Given the description of an element on the screen output the (x, y) to click on. 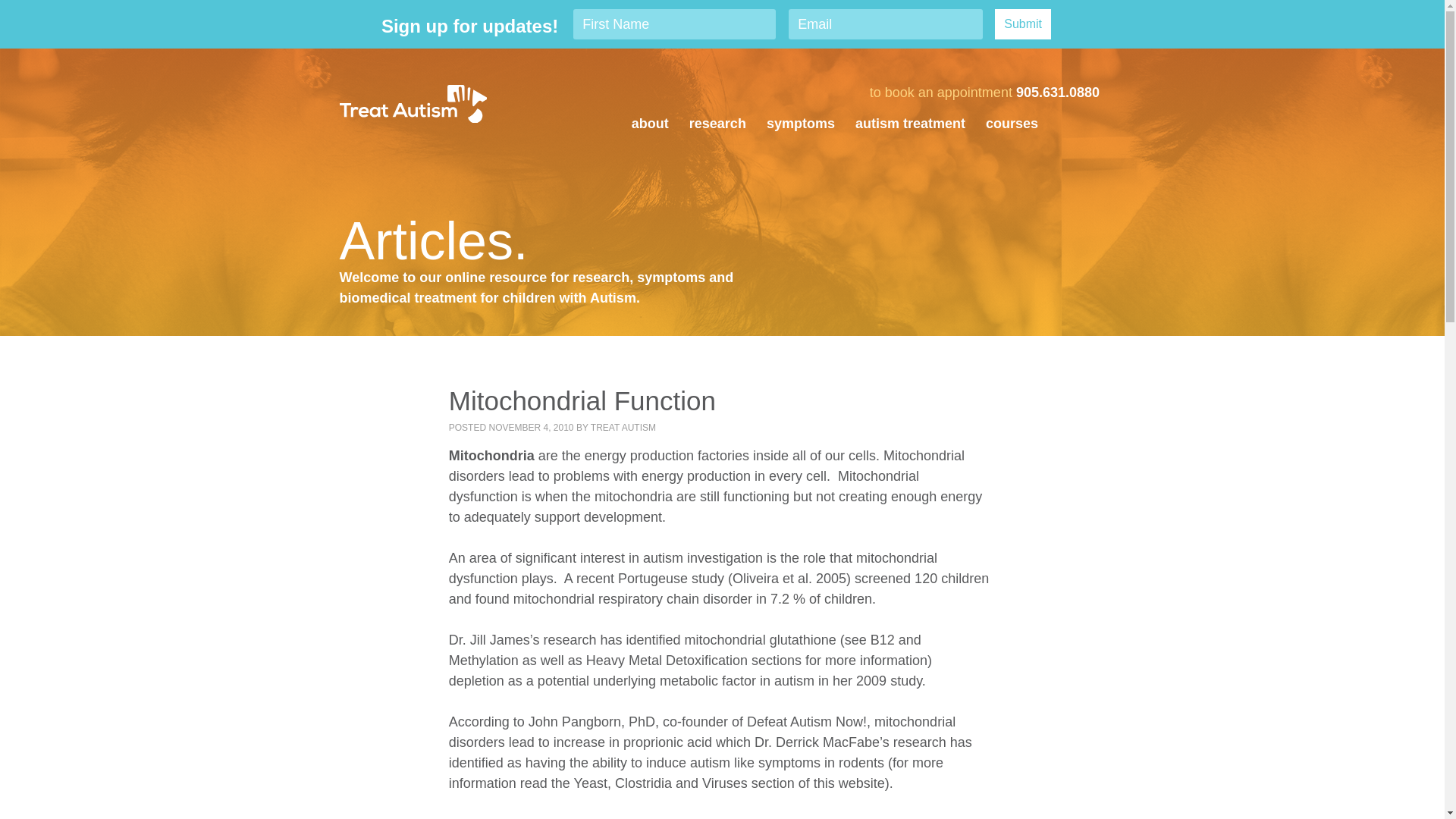
about (649, 123)
Submit (1022, 24)
905.631.0880 (1057, 92)
Submit (1022, 24)
